Given the description of an element on the screen output the (x, y) to click on. 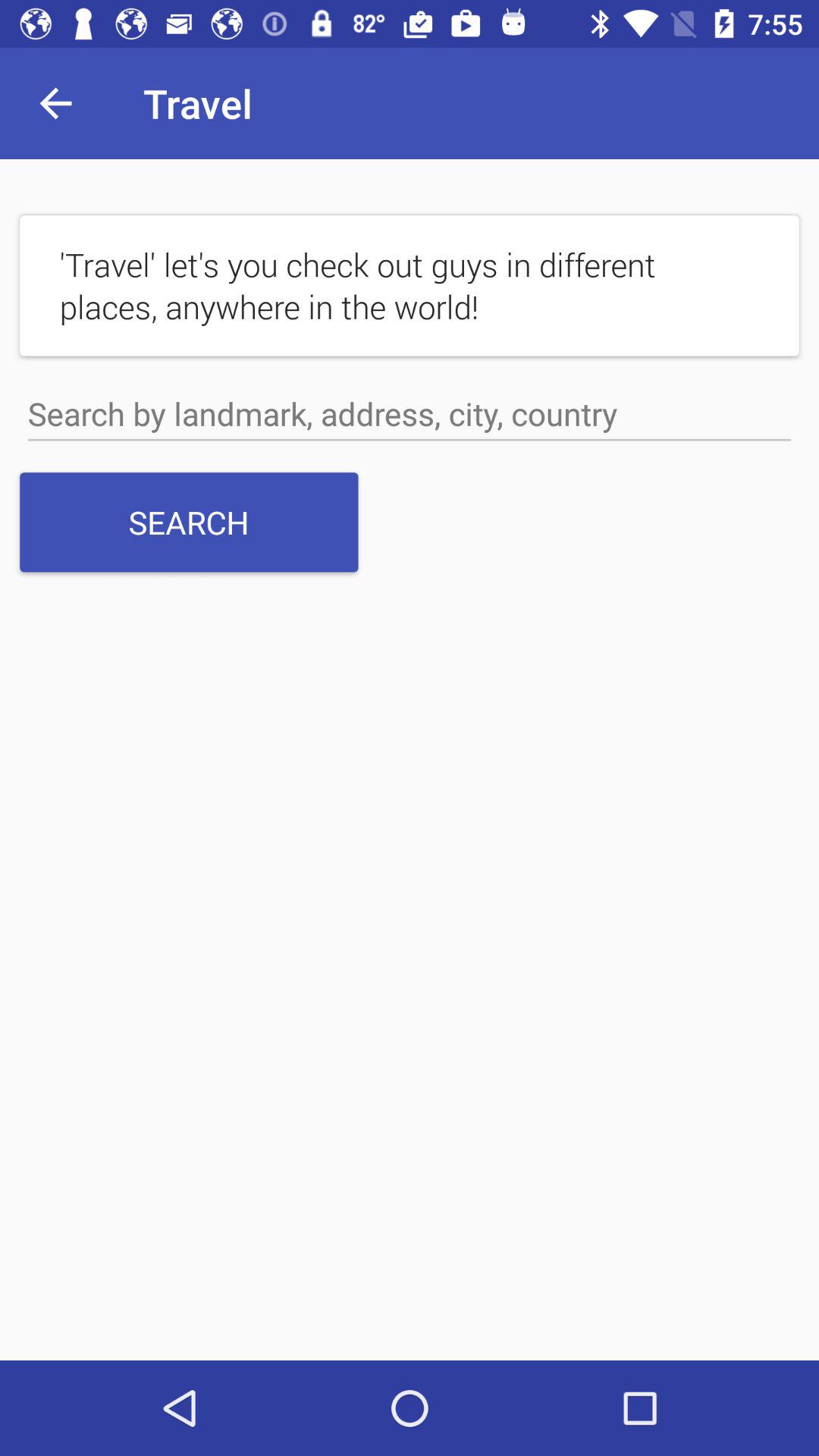
to select address (409, 413)
